Given the description of an element on the screen output the (x, y) to click on. 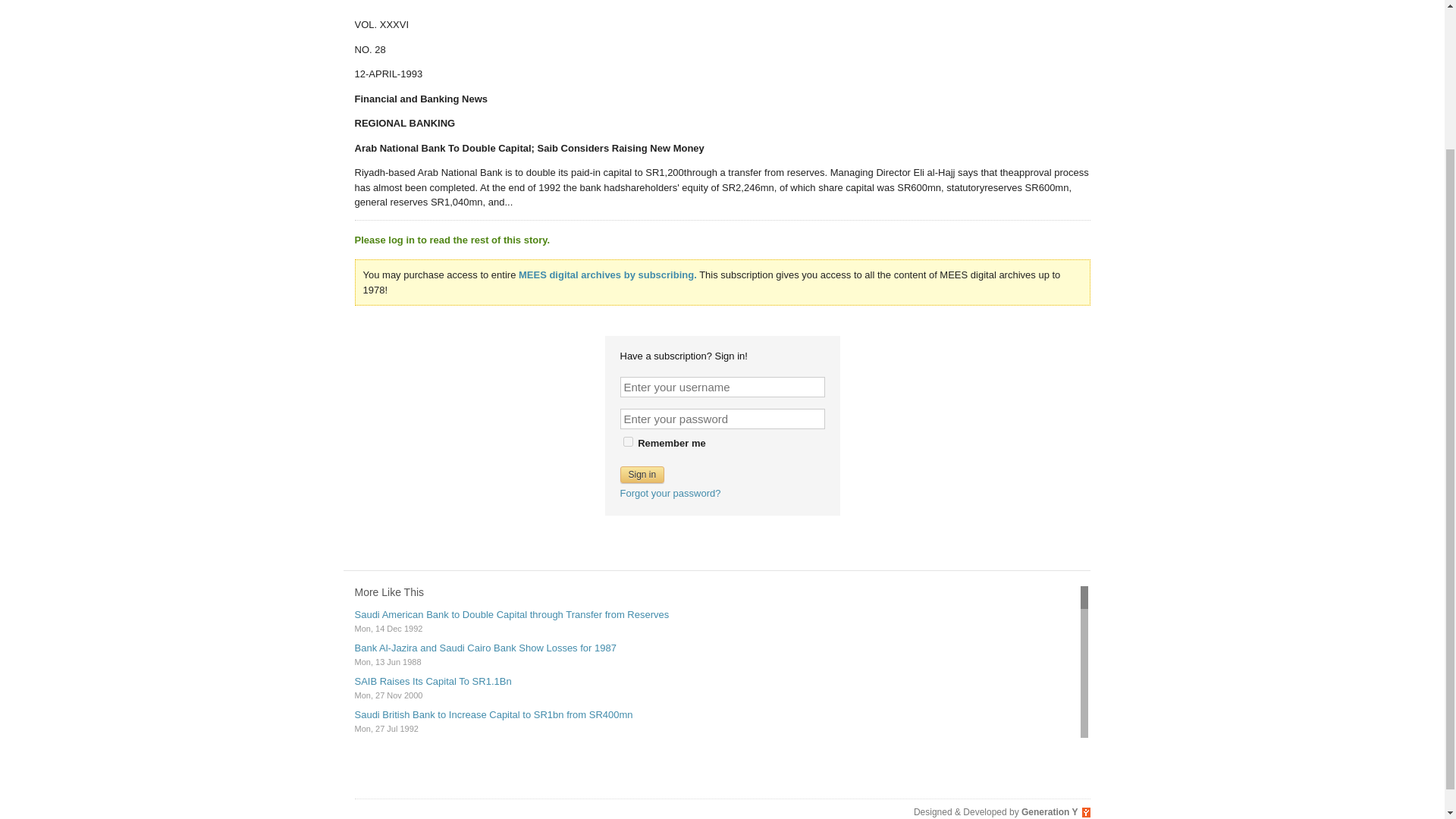
1 (628, 441)
SAIB Raises Its Capital To SR1.1Bn (433, 681)
Sign in (642, 474)
MEES digital archives by subscribing. (607, 274)
Saudi British Bank to Increase Capital to SR1bn from SR400mn (494, 714)
Sign in (642, 474)
Bank Al-Jazira and Saudi Cairo Bank Show Losses for 1987 (485, 647)
Forgot your password? (670, 491)
